Given the description of an element on the screen output the (x, y) to click on. 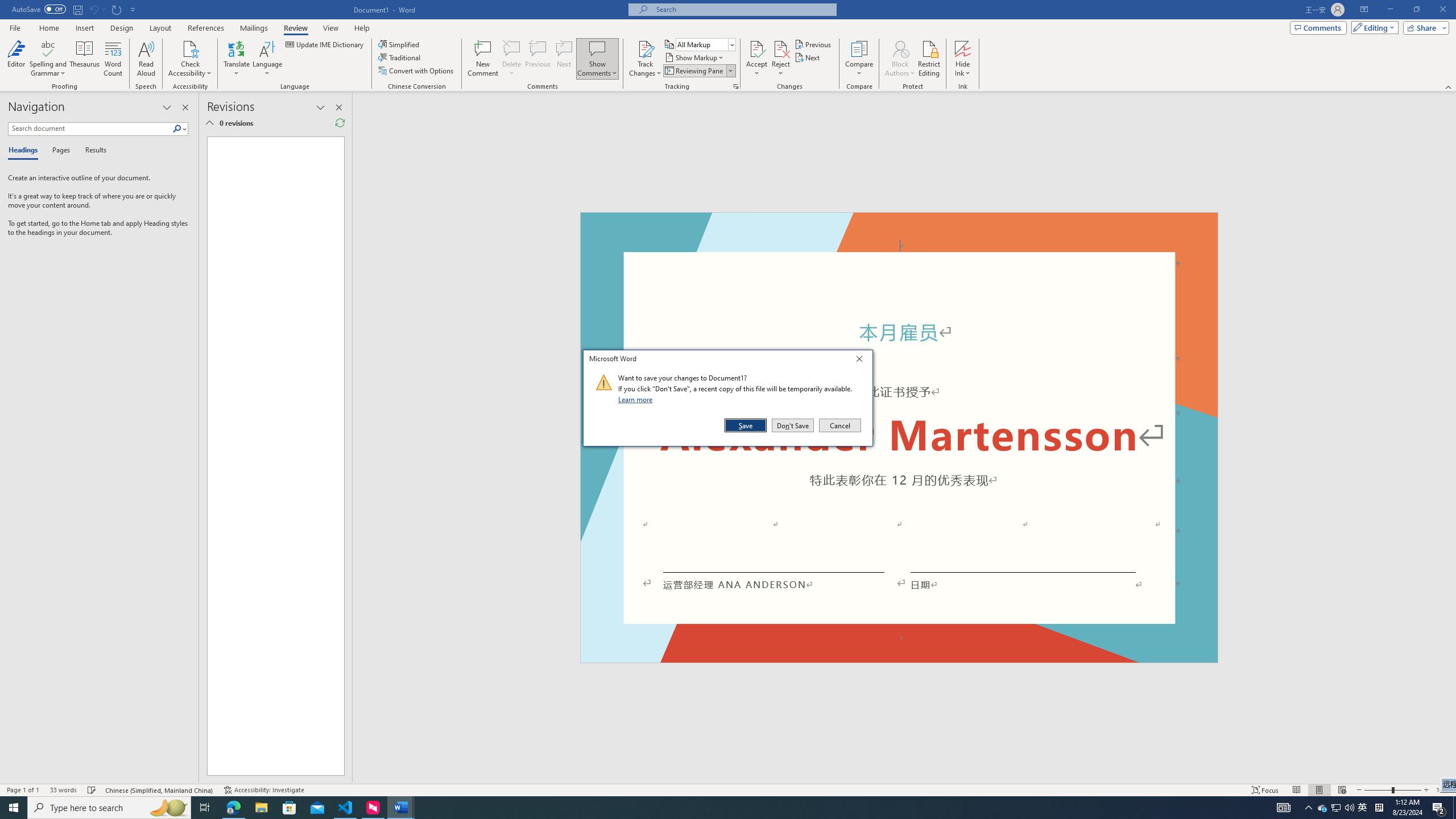
Pages (59, 150)
Delete (511, 48)
Start (13, 807)
Previous (813, 44)
Class: MsoCommandBar (728, 789)
Tray Input Indicator - Chinese (Simplified, China) (1378, 807)
Microsoft Edge - 1 running window (233, 807)
AutomationID: 4105 (1283, 807)
Thesaurus... (84, 58)
Next (808, 56)
Compare (859, 58)
Display for Review (705, 44)
